Given the description of an element on the screen output the (x, y) to click on. 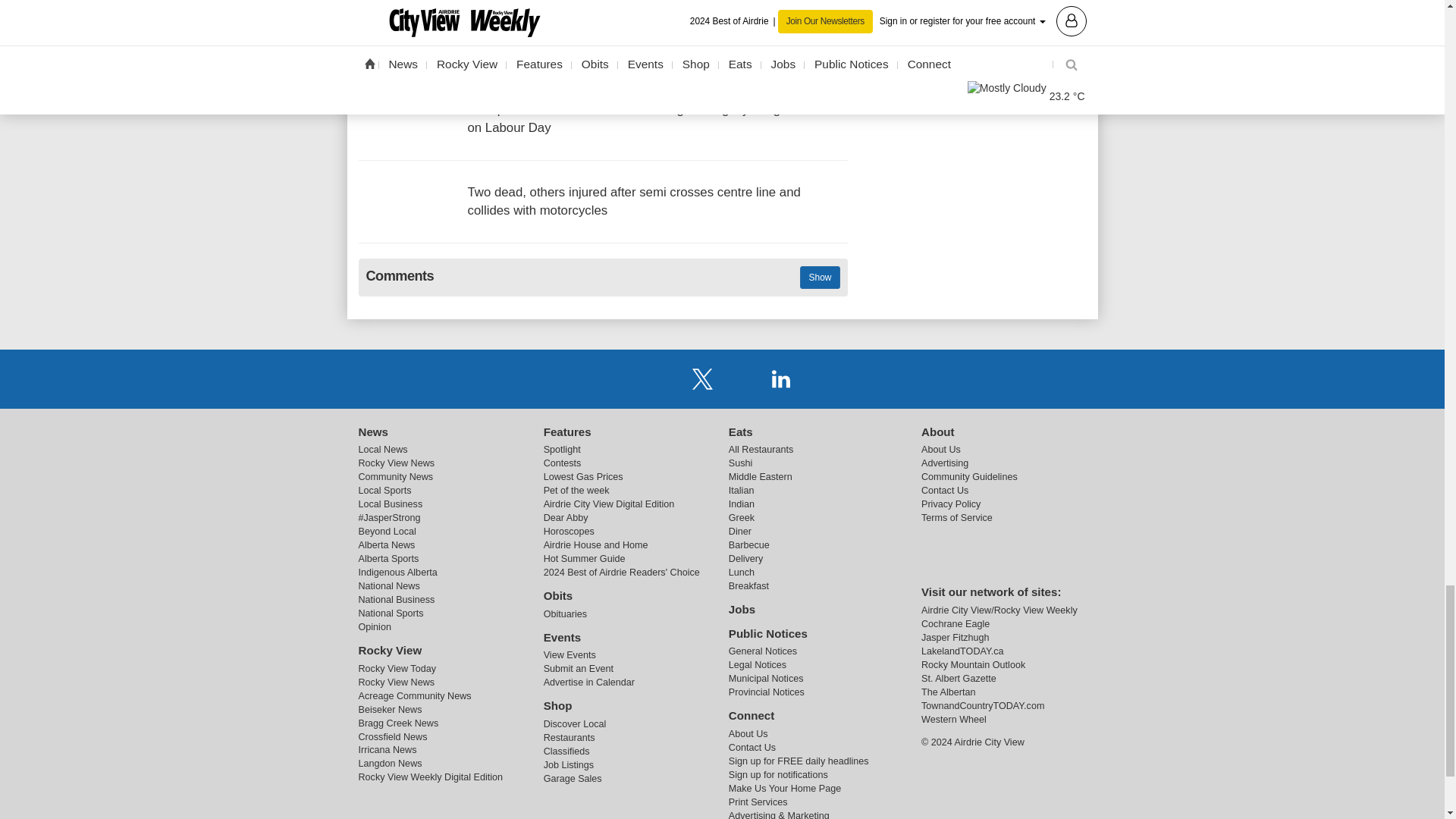
Facebook (663, 378)
LinkedIn (780, 378)
Instagram (741, 378)
X (702, 378)
